Given the description of an element on the screen output the (x, y) to click on. 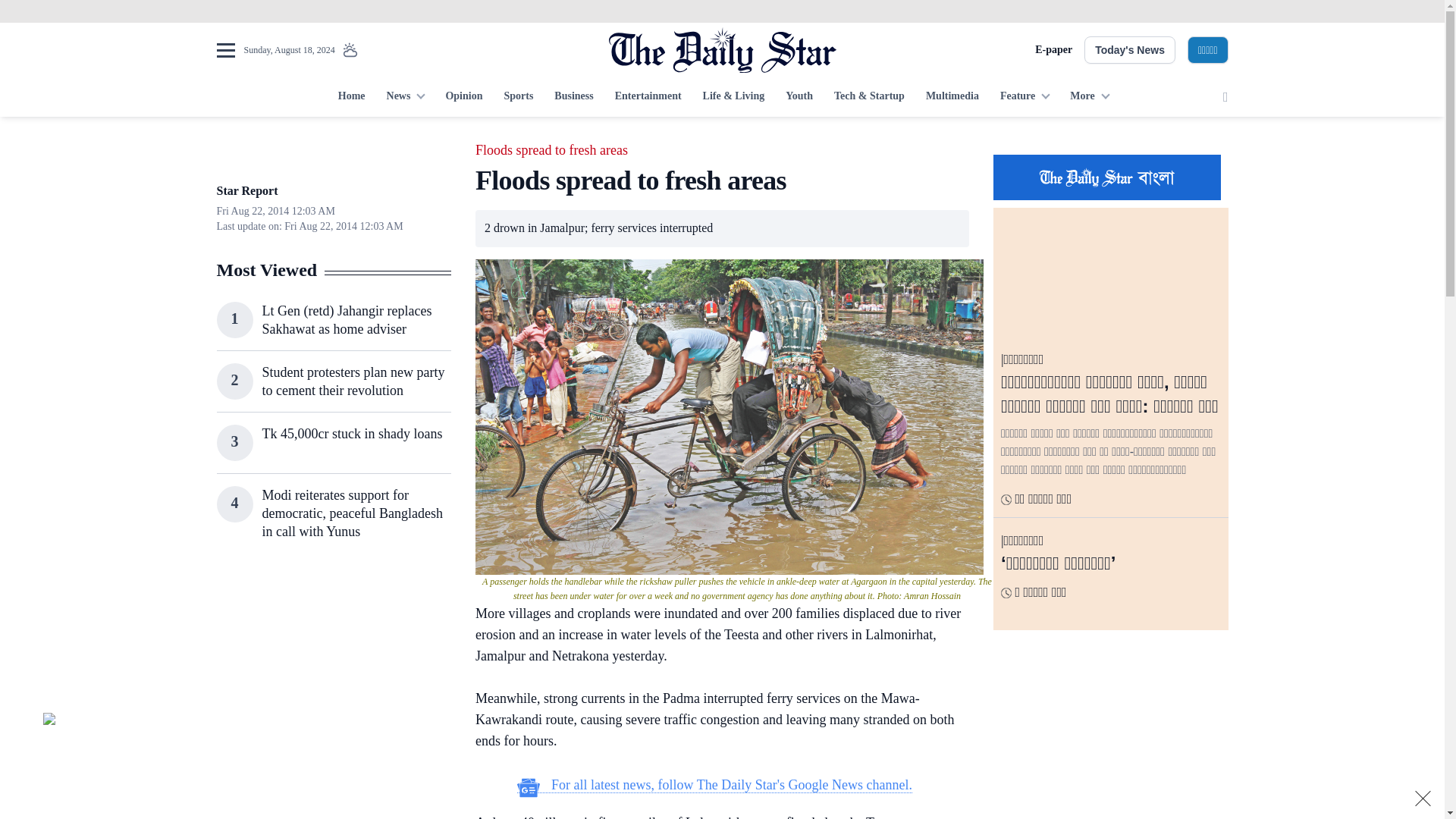
Sports (518, 96)
Feature (1024, 96)
News (405, 96)
Multimedia (952, 96)
Youth (799, 96)
Home (351, 96)
Opinion (463, 96)
Entertainment (647, 96)
Business (573, 96)
